Given the description of an element on the screen output the (x, y) to click on. 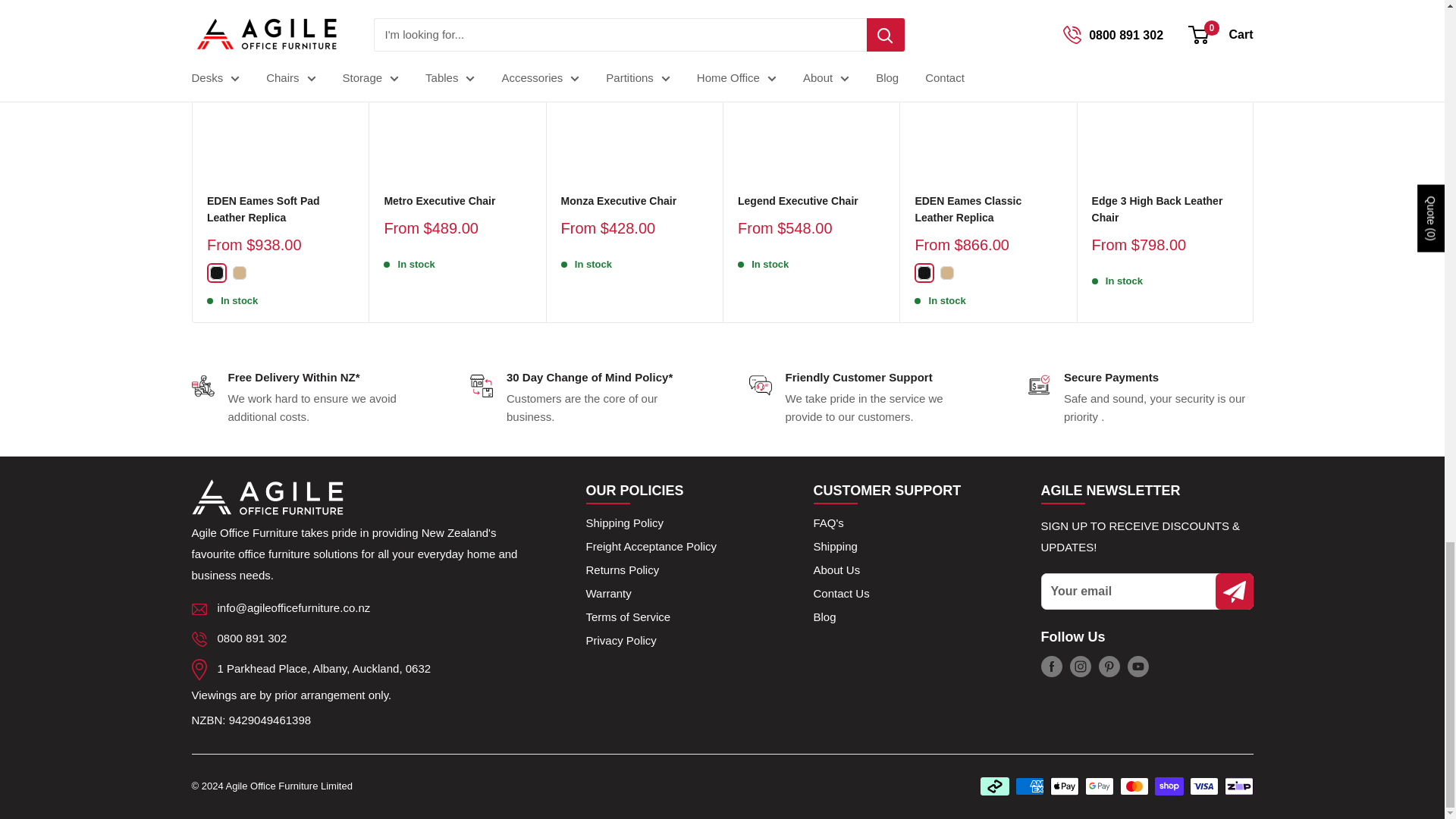
Black (215, 273)
Black (924, 273)
Tan (238, 273)
Tan (946, 273)
tel:0800 891 302 (251, 637)
